Given the description of an element on the screen output the (x, y) to click on. 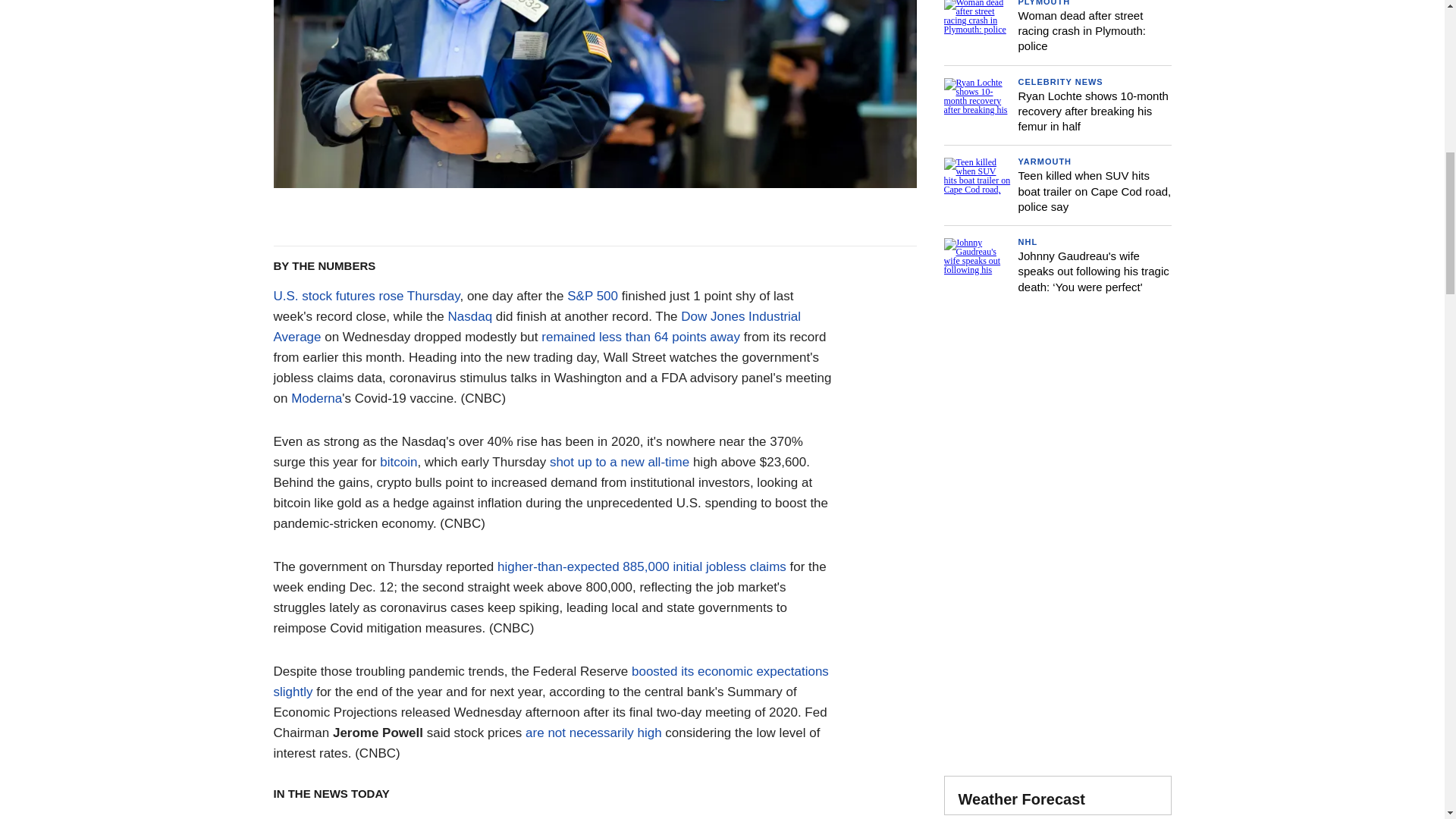
higher-than-expected 885,000 initial jobless claims (641, 566)
boosted its economic expectations slightly (550, 681)
Nasdaq (470, 316)
bitcoin (398, 462)
U.S. stock futures rose Thursday (366, 296)
remained less than 64 points away (640, 336)
are nearing agreement (491, 817)
are not necessarily high (593, 732)
shot up to a new all-time (619, 462)
Dow Jones Industrial Average (536, 326)
